Given the description of an element on the screen output the (x, y) to click on. 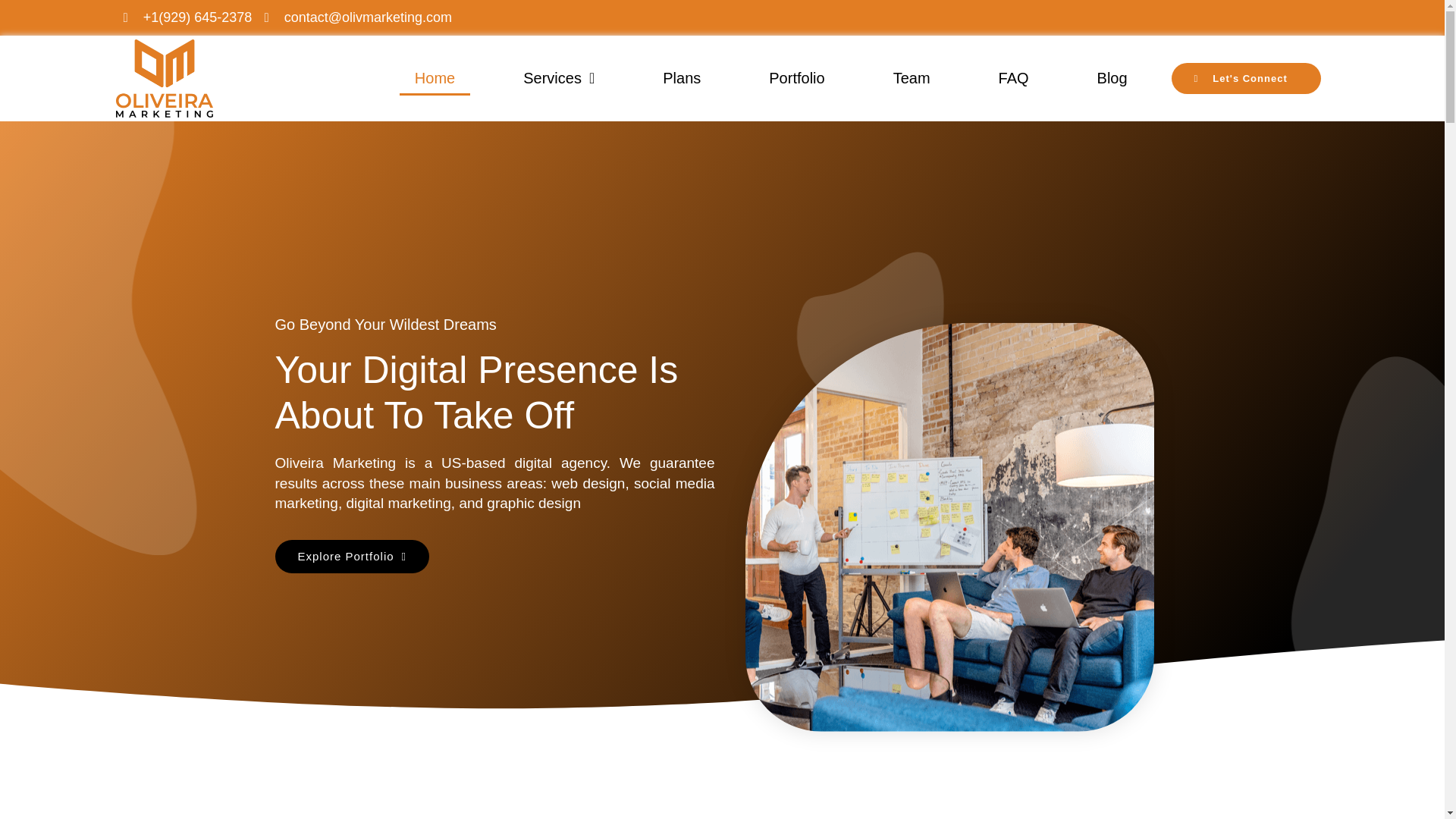
Home (434, 77)
Plans (681, 77)
FAQ (1013, 77)
Let's Connect (1245, 78)
Blog (1111, 77)
Explore Portfolio (352, 556)
Services (559, 77)
Team (910, 77)
Portfolio (797, 77)
